Given the description of an element on the screen output the (x, y) to click on. 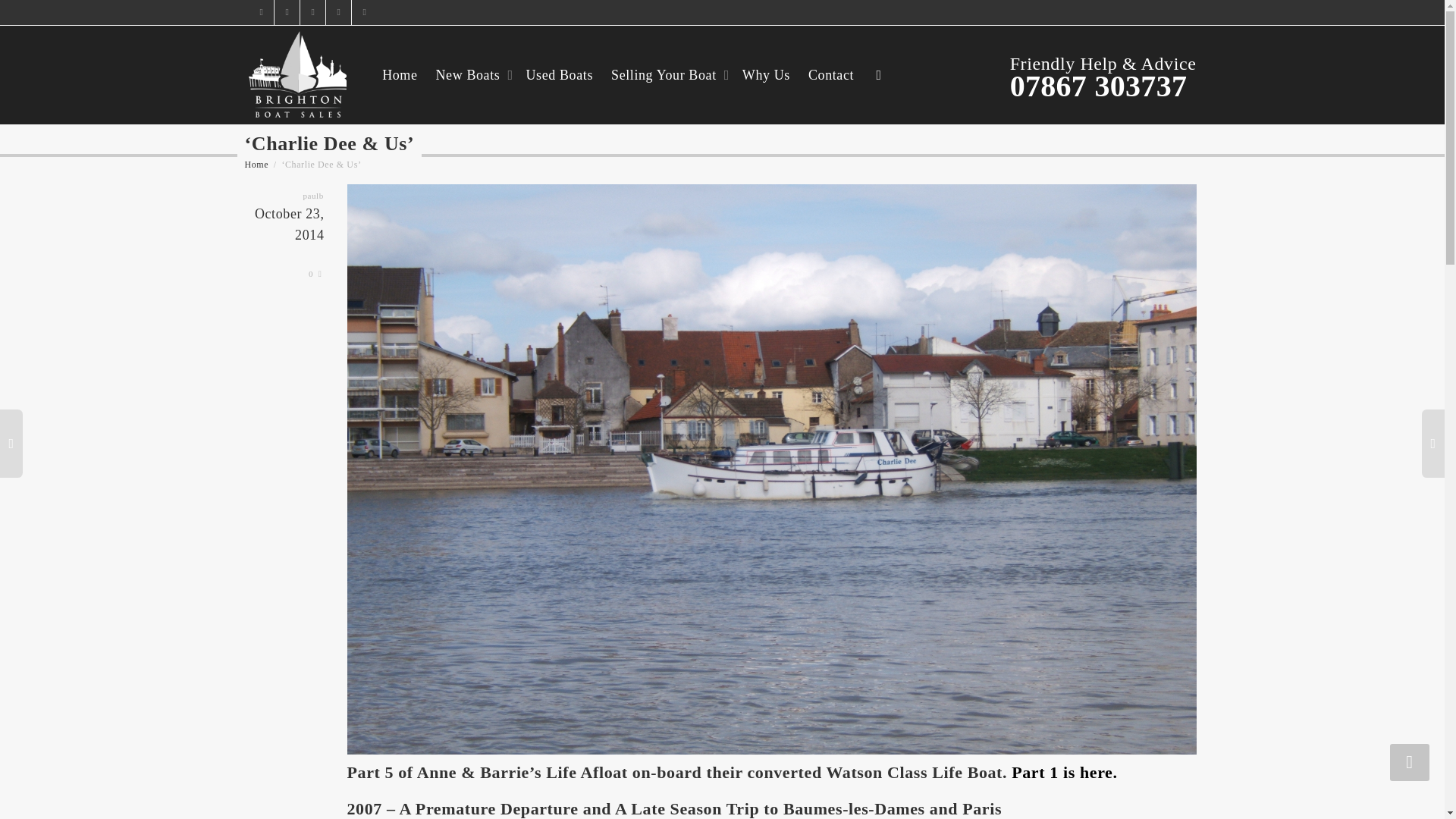
07867 303737 (1099, 85)
October 23, 2014 (286, 235)
Part 1 is here. (1063, 772)
Selling Your Boat (667, 74)
Brighton Boat Sales (297, 74)
0 (315, 273)
Selling Your Boat (667, 74)
paulb (312, 195)
View all POSTS by paulb (312, 195)
Brighton Boat Sales (255, 163)
Home (255, 163)
